Given the description of an element on the screen output the (x, y) to click on. 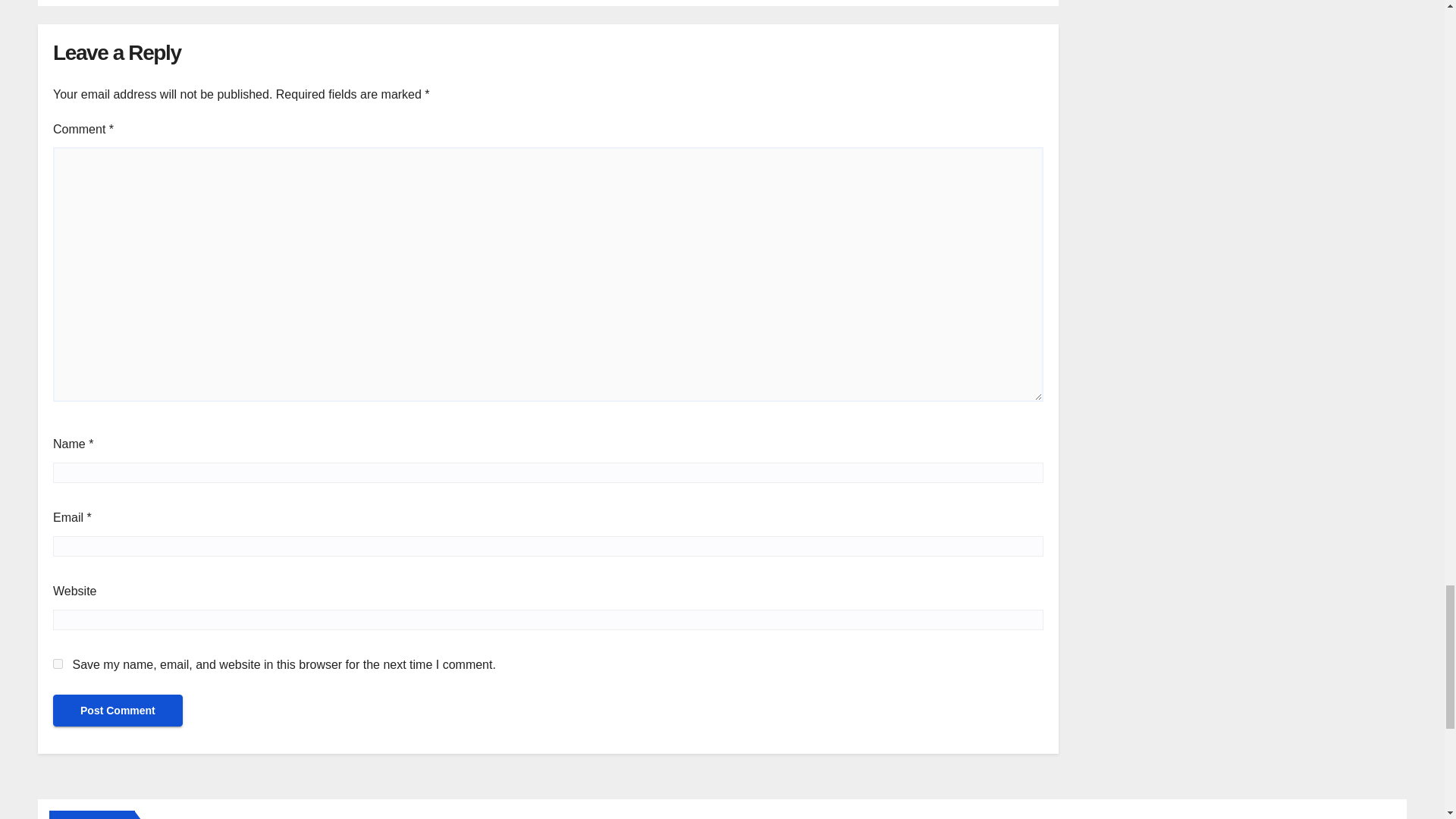
Post Comment (117, 710)
yes (57, 664)
